Given the description of an element on the screen output the (x, y) to click on. 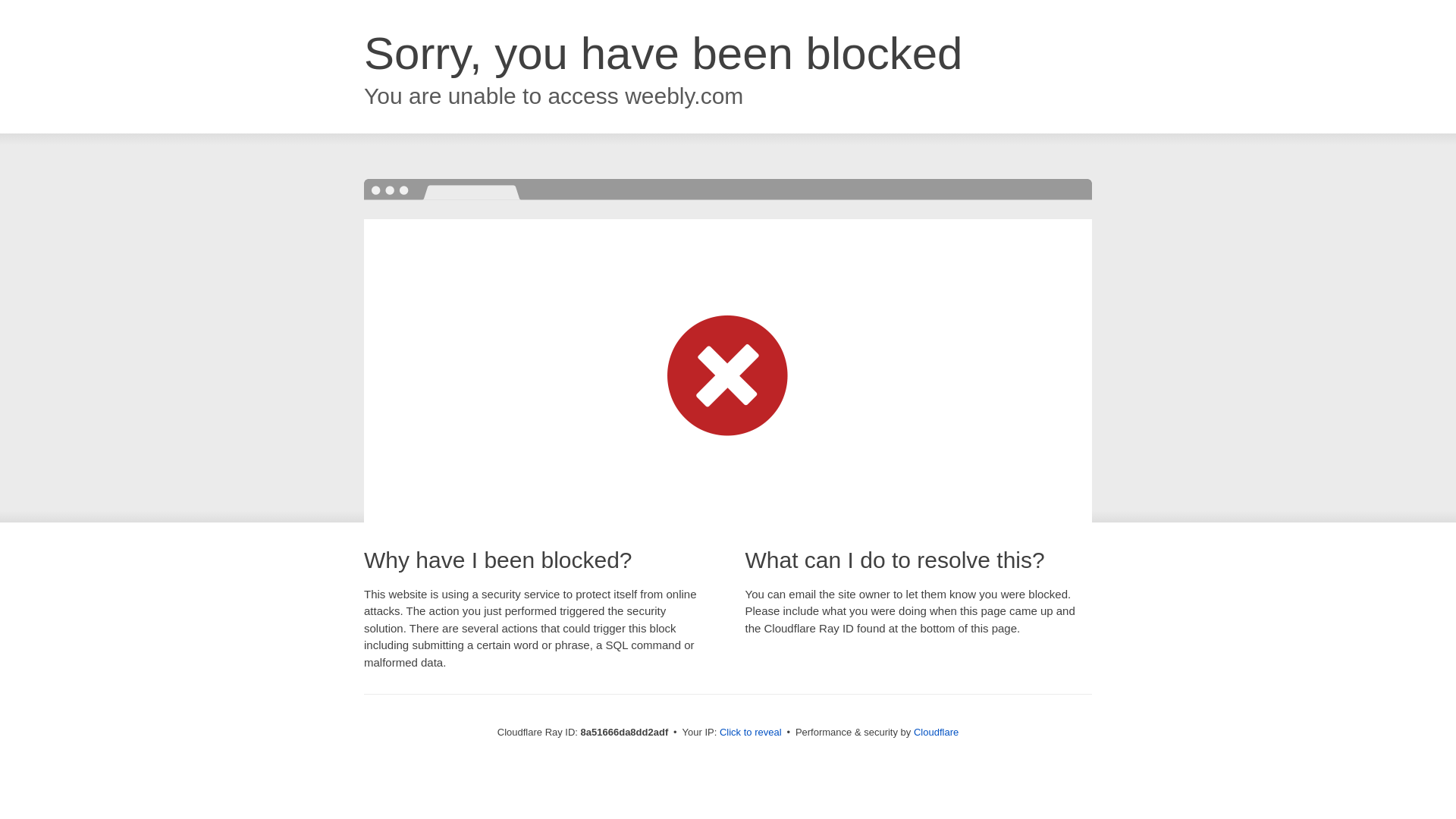
Cloudflare (936, 731)
Click to reveal (750, 732)
